Given the description of an element on the screen output the (x, y) to click on. 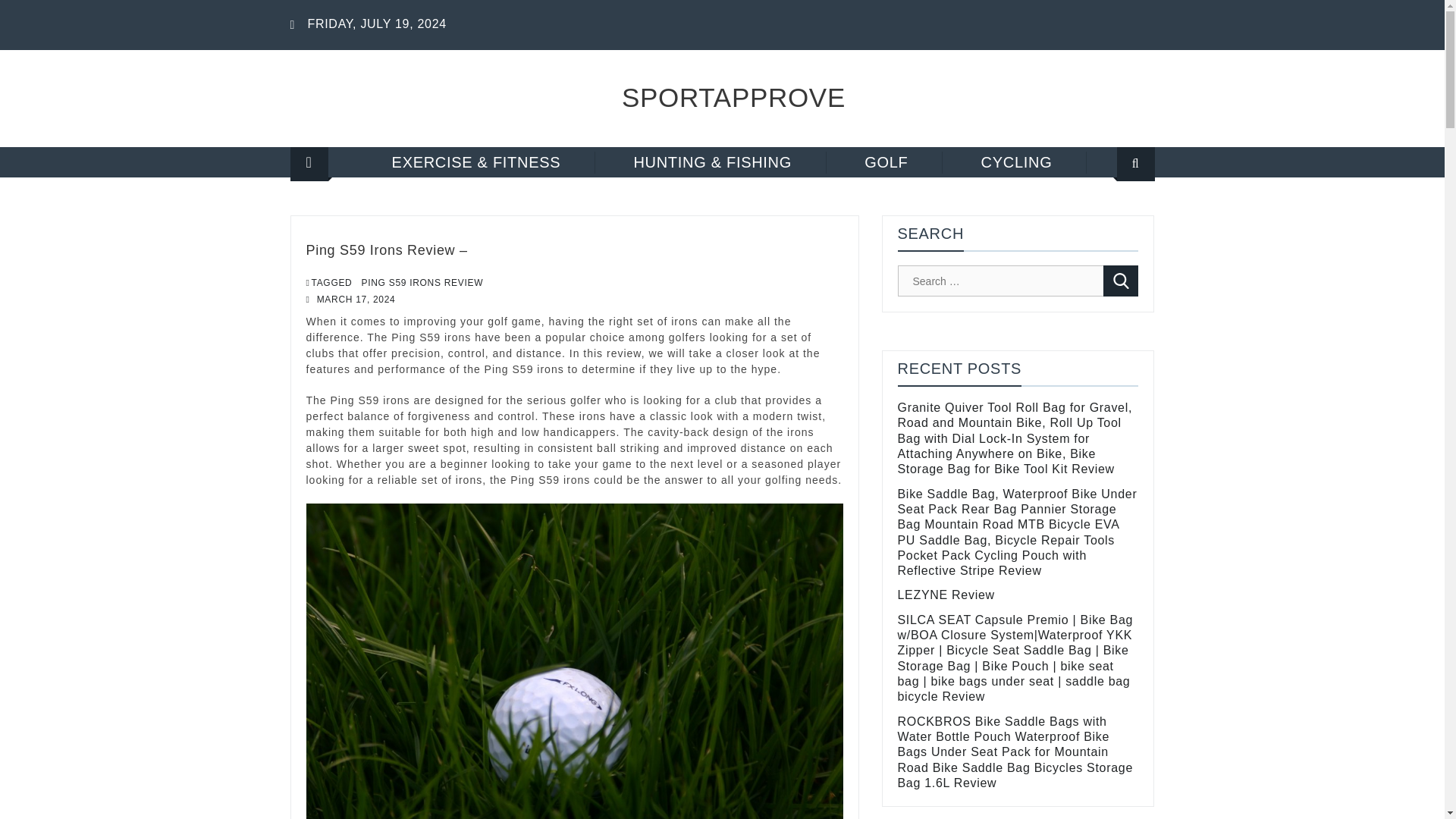
Search (1116, 211)
MARCH 17, 2024 (356, 299)
PING S59 IRONS REVIEW (422, 282)
GOLF (885, 162)
Search (1120, 280)
CYCLING (1017, 162)
SPORTAPPROVE (733, 97)
Search (1120, 280)
